Given the description of an element on the screen output the (x, y) to click on. 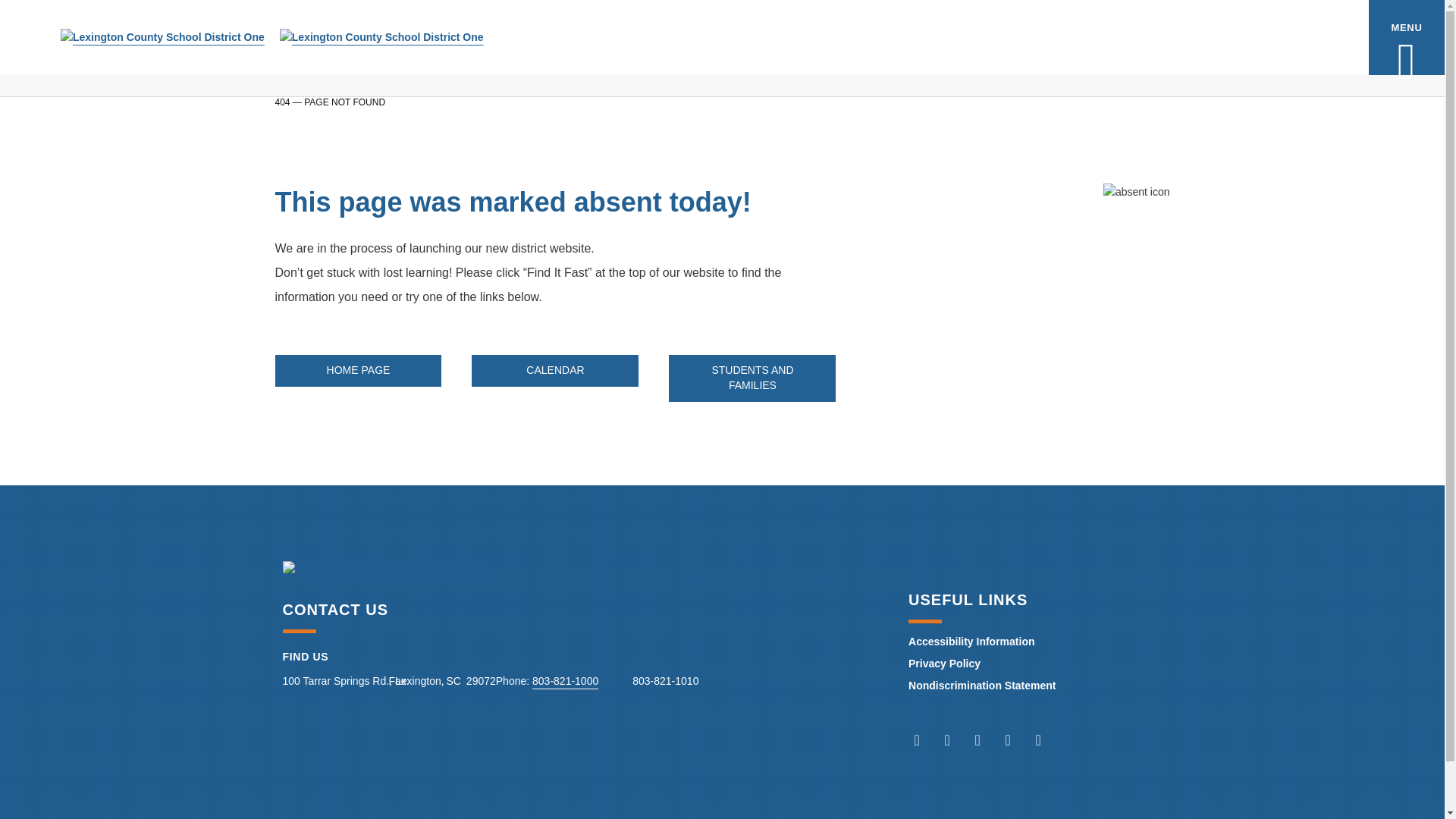
CALENDAR (555, 370)
Students and Families (751, 377)
Lexington One home page (358, 370)
